Given the description of an element on the screen output the (x, y) to click on. 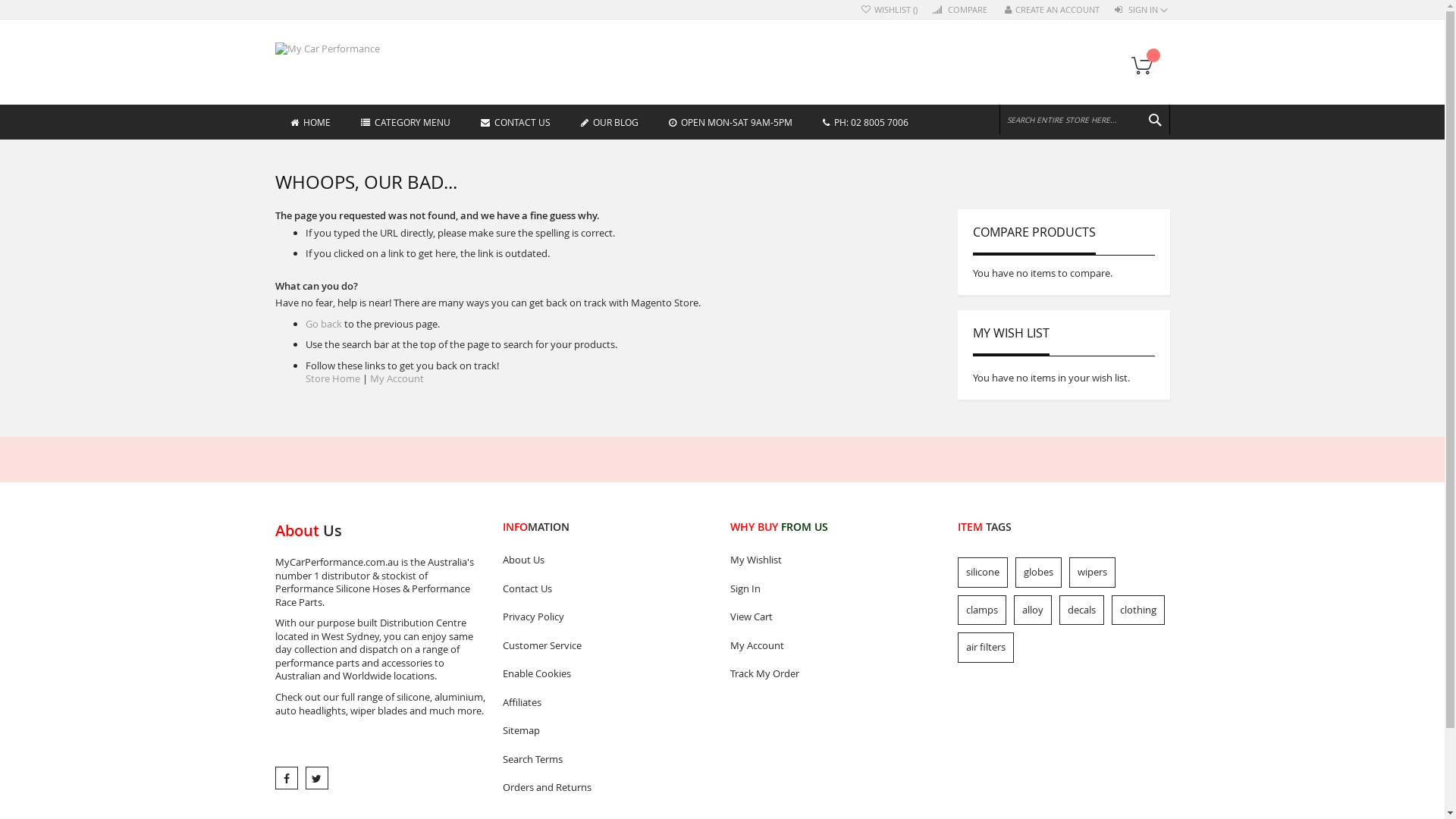
Sitemap Element type: text (608, 730)
Skip to Content Element type: text (274, 3)
My Car Performance Element type: hover (338, 49)
CREATE AN ACCOUNT Element type: text (1051, 9)
WISHLIST Element type: text (889, 9)
decals Element type: text (1080, 609)
PH: 02 8005 7006 Element type: text (864, 121)
CONTACT US Element type: text (515, 121)
Affiliates Element type: text (608, 702)
wipers Element type: text (1092, 572)
My Account Element type: text (835, 645)
globes Element type: text (1037, 572)
clamps Element type: text (981, 609)
Sign In Element type: text (835, 588)
CATEGORY MENU Element type: text (405, 121)
COMPARE Element type: text (960, 9)
My Cart Element type: text (1147, 65)
Privacy Policy Element type: text (608, 616)
OUR BLOG Element type: text (609, 121)
clothing Element type: text (1137, 609)
About Us Element type: text (608, 560)
Customer Service Element type: text (608, 645)
Orders and Returns Element type: text (608, 787)
My Account Element type: text (396, 378)
air filters Element type: text (985, 647)
Store Home Element type: text (331, 378)
Enable Cookies Element type: text (608, 673)
  Element type: text (285, 777)
My Wishlist Element type: text (835, 560)
silicone Element type: text (982, 572)
OPEN MON-SAT 9AM-5PM Element type: text (730, 121)
twitter.com/mycarperformanc Element type: hover (315, 777)
View Cart Element type: text (835, 616)
facebook.com/mycarperformancecom Element type: hover (285, 777)
HOME Element type: text (309, 121)
Track My Order Element type: text (835, 673)
Contact Us Element type: text (608, 588)
alloy Element type: text (1032, 609)
  Element type: text (315, 777)
SEARCH Element type: text (1154, 119)
Search Terms Element type: text (608, 759)
Go back Element type: text (322, 323)
